Given the description of an element on the screen output the (x, y) to click on. 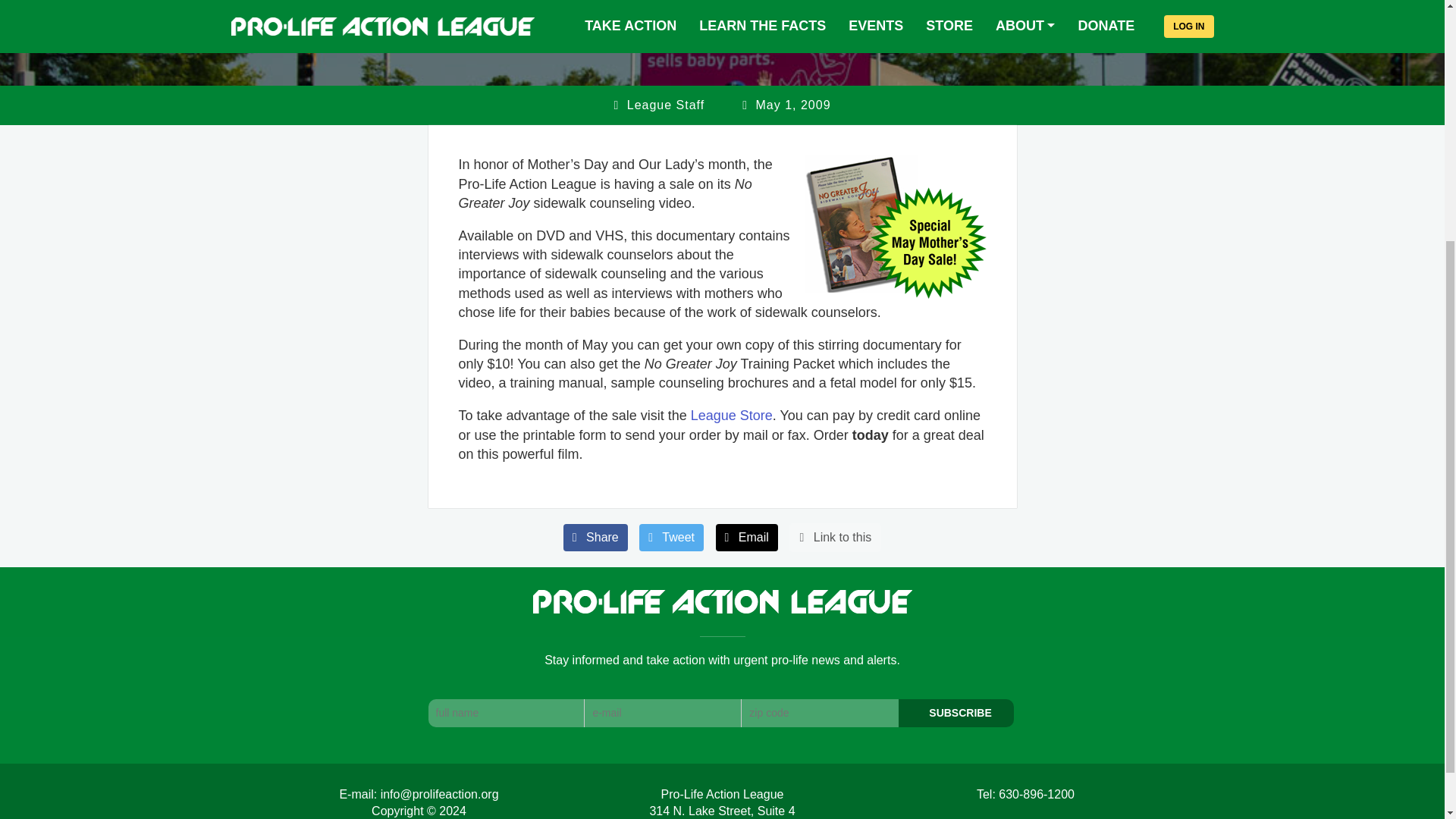
Share (595, 537)
SUBSCRIBE (955, 712)
Tweet (671, 537)
League Store (731, 415)
SUBSCRIBE (955, 712)
Link to this (834, 537)
630-896-1200 (1036, 793)
Email (746, 537)
